Given the description of an element on the screen output the (x, y) to click on. 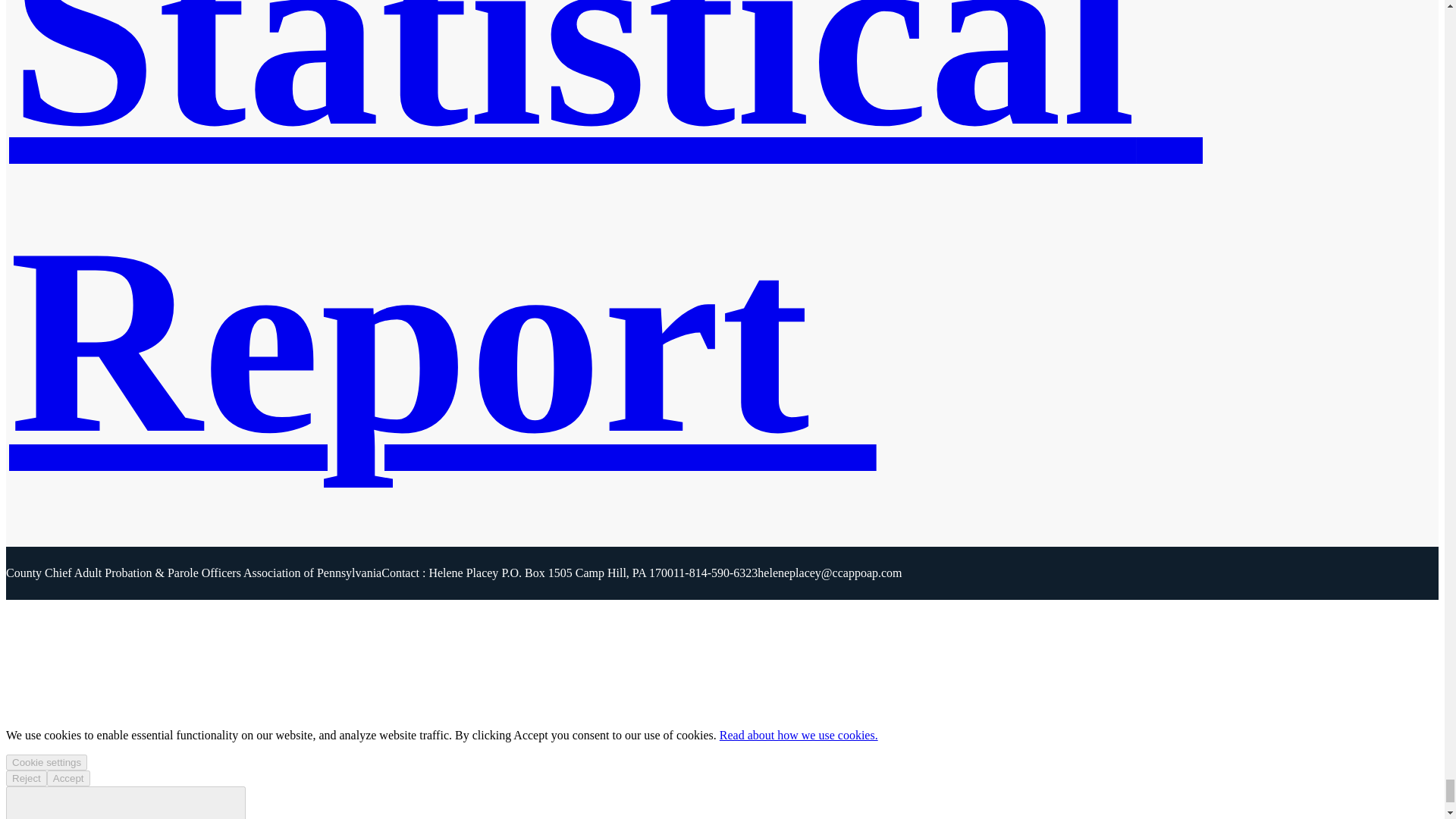
Reject (25, 778)
Read about how we use cookies. (798, 735)
Cookie settings (46, 762)
Accept (68, 778)
